Given the description of an element on the screen output the (x, y) to click on. 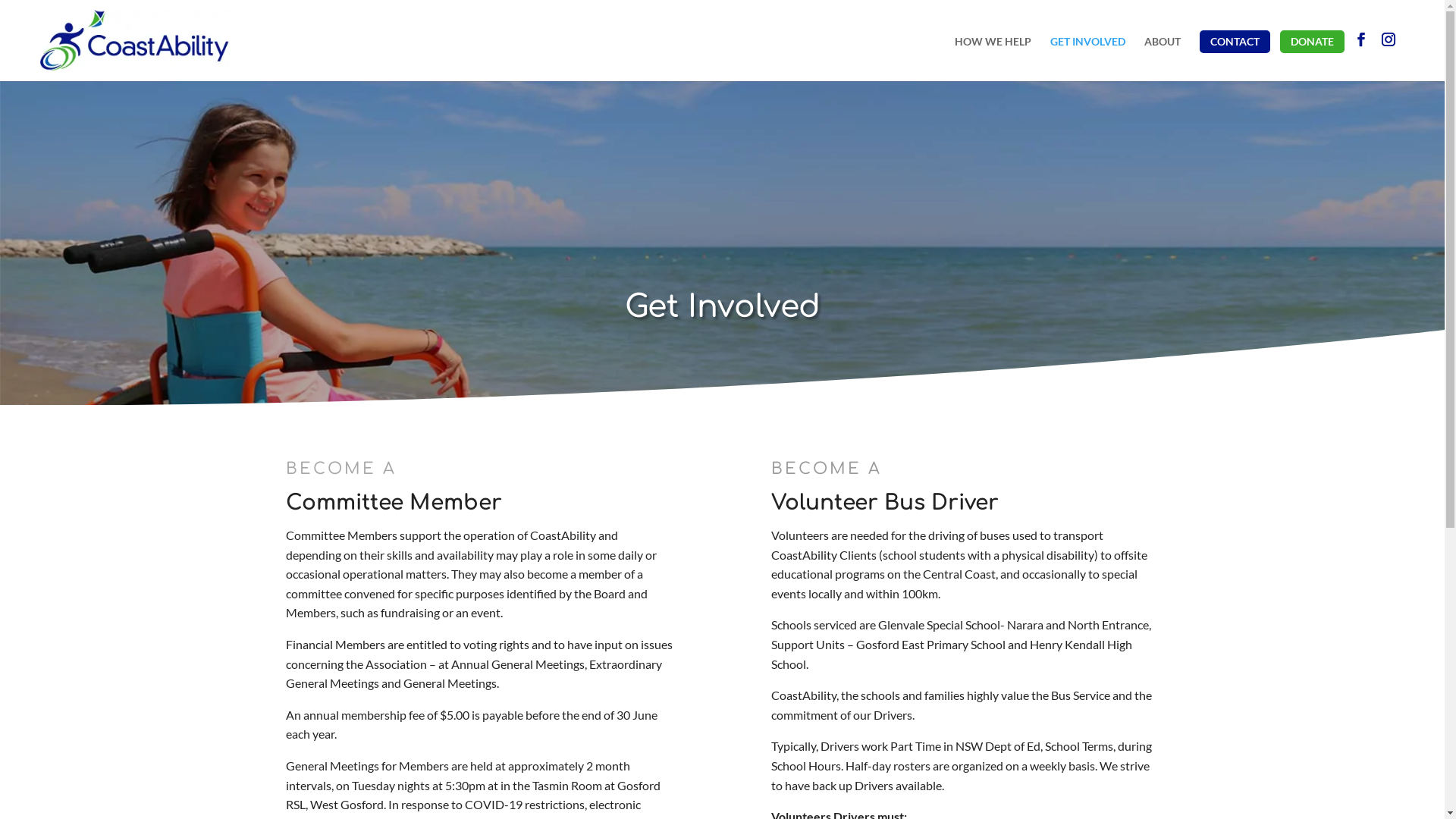
DONATE Element type: text (1312, 41)
INSTAGRAM Element type: text (1388, 56)
GET INVOLVED Element type: text (1087, 56)
ABOUT Element type: text (1162, 56)
CONTACT Element type: text (1234, 41)
FACEBOOK Element type: text (1361, 56)
HOW WE HELP Element type: text (992, 56)
